Given the description of an element on the screen output the (x, y) to click on. 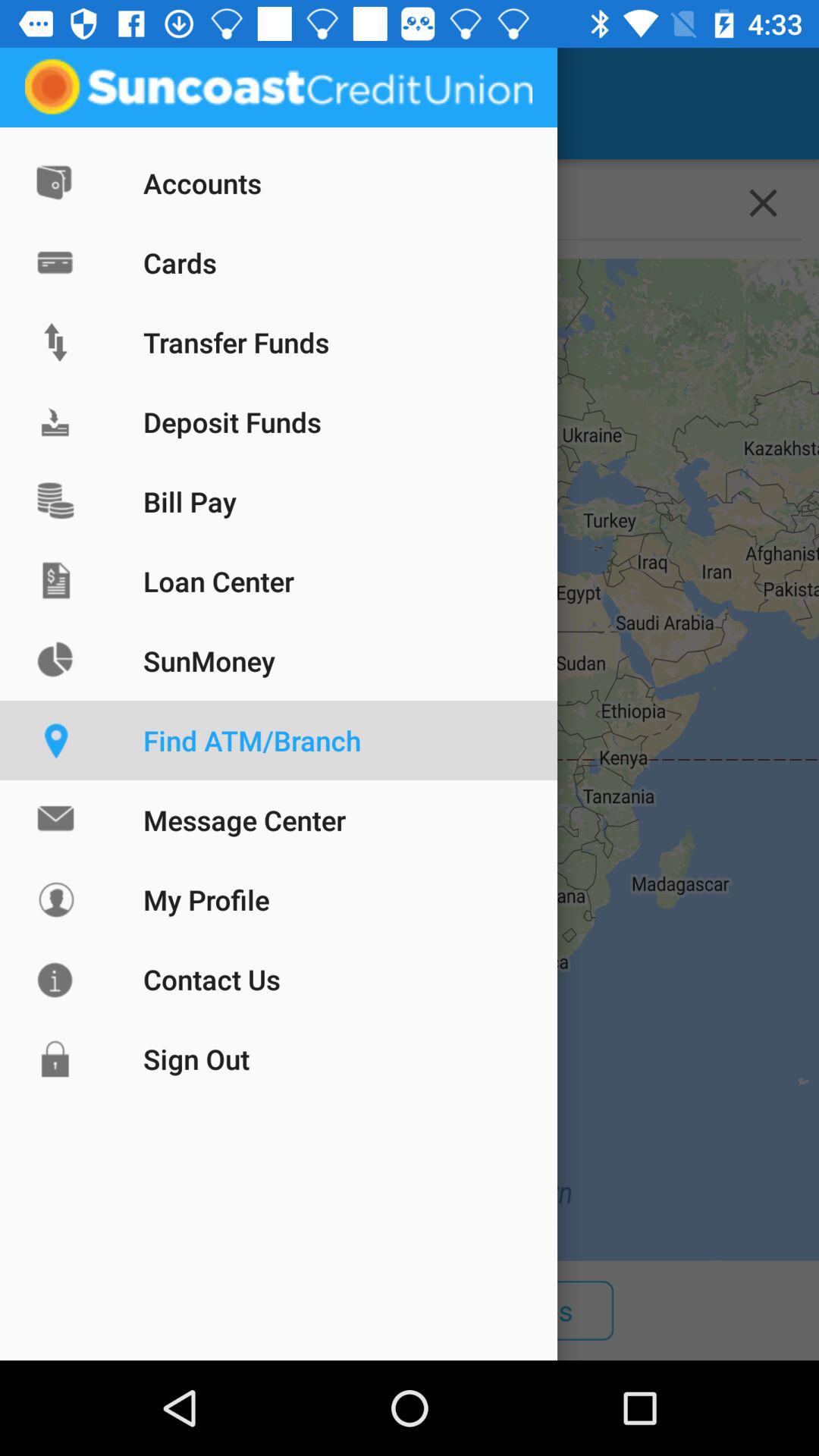
flip to all item (118, 1310)
